Given the description of an element on the screen output the (x, y) to click on. 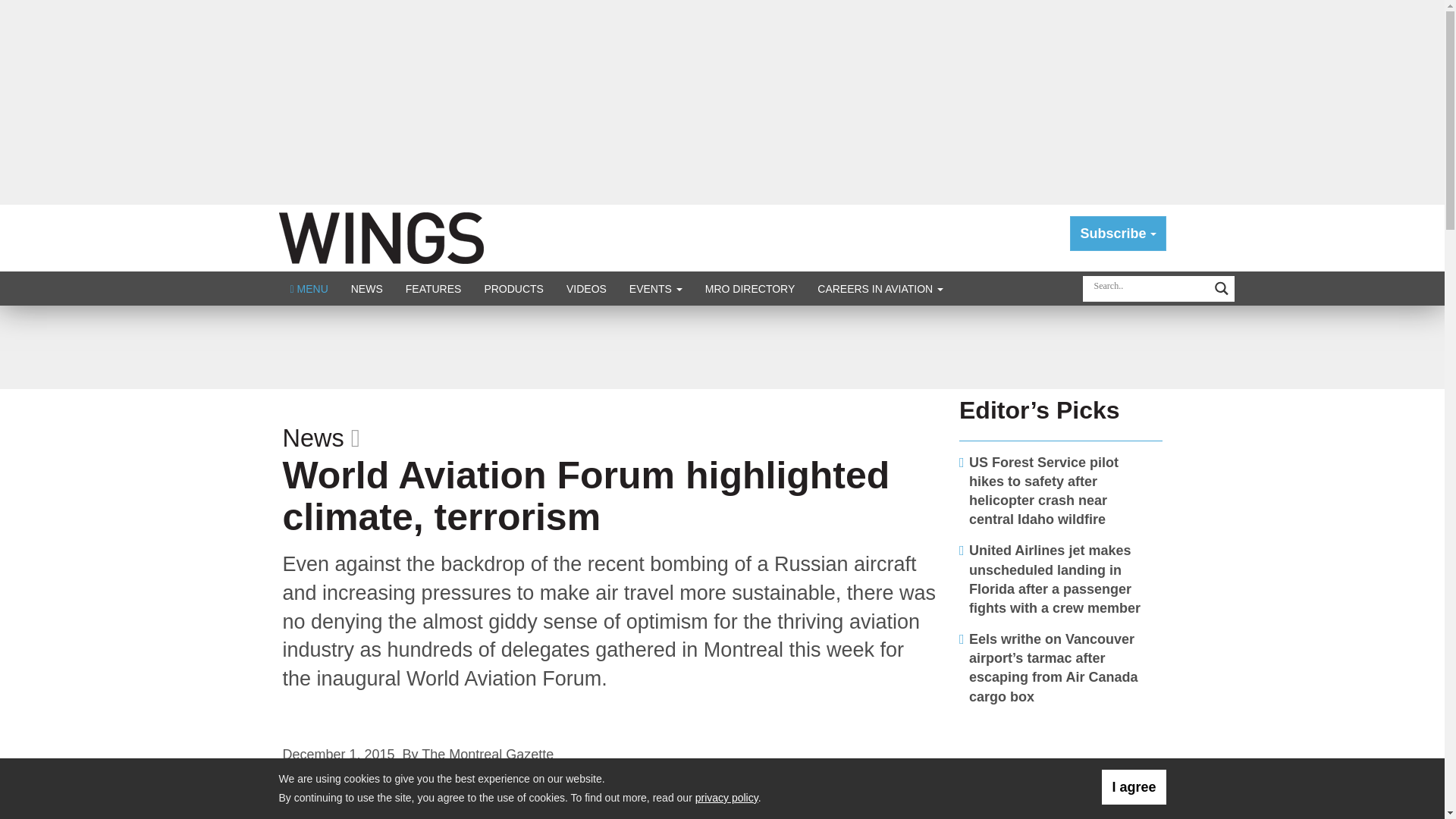
Wings Magazine (381, 237)
MENU (309, 288)
Subscribe (1118, 233)
FEATURES (433, 288)
MRO DIRECTORY (750, 288)
Click to show site navigation (309, 288)
VIDEOS (585, 288)
3rd party ad content (1060, 769)
NEWS (366, 288)
EVENTS (655, 288)
PRODUCTS (512, 288)
CAREERS IN AVIATION (880, 288)
3rd party ad content (721, 346)
